Given the description of an element on the screen output the (x, y) to click on. 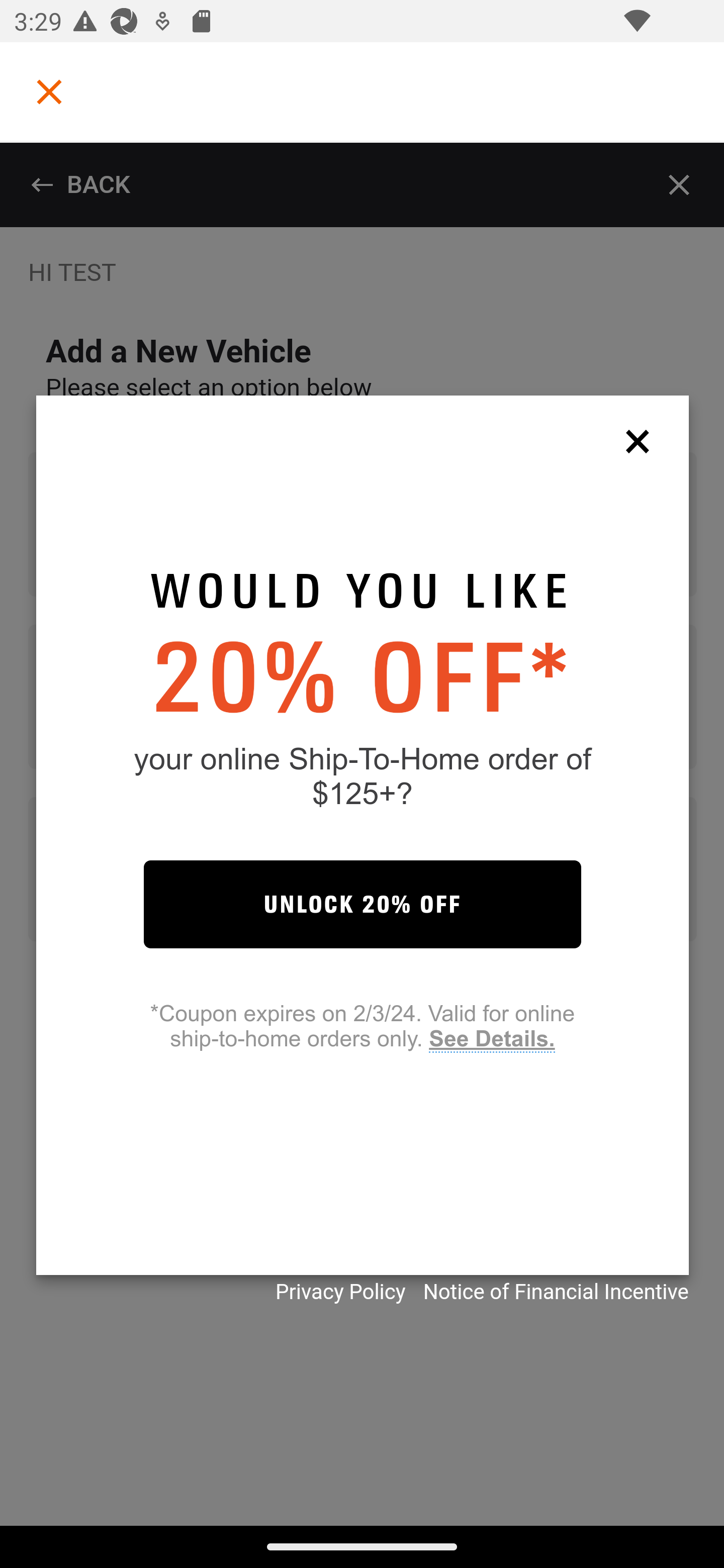
 (49, 91)
BACK (79, 184)
Close (679, 184)
close jebbit questionnaire (641, 440)
UNLOCK 20% OFF  (362, 903)
See Details. (491, 1039)
Privacy Policy (340, 1291)
Notice of Financial Incentive (555, 1291)
